Given the description of an element on the screen output the (x, y) to click on. 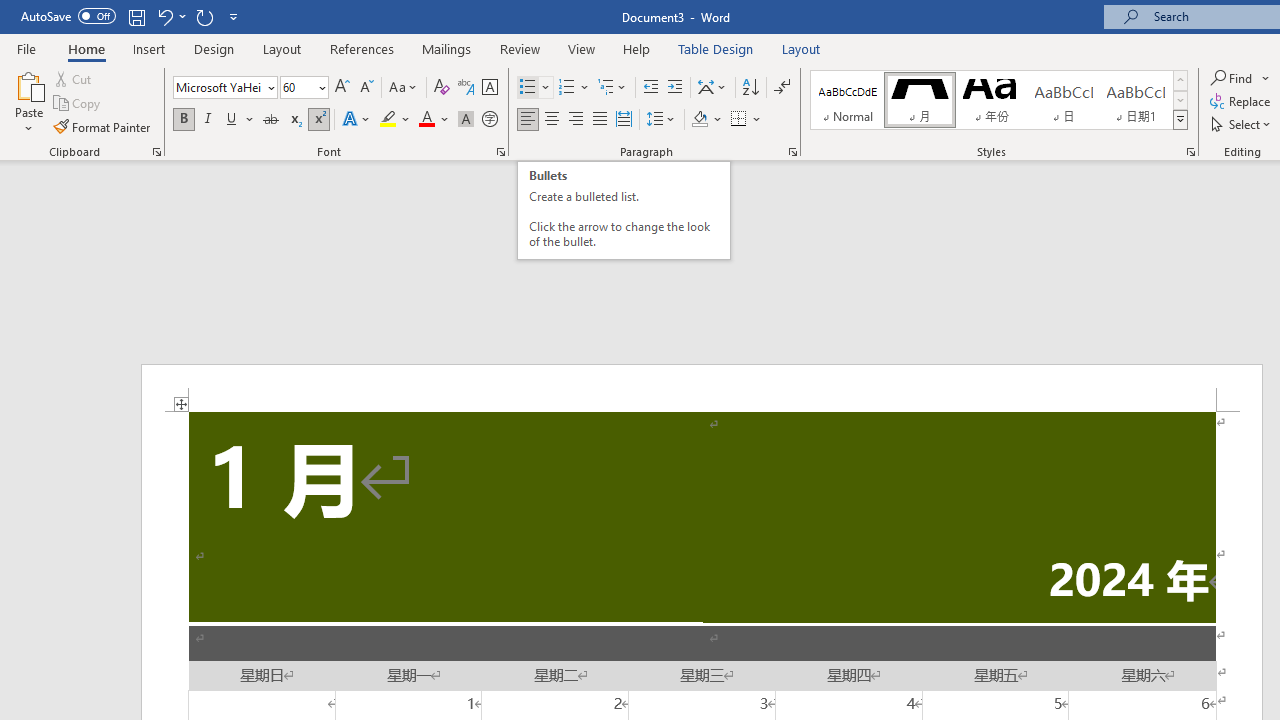
Header -Section 1- (701, 387)
Increase Indent (675, 87)
Paragraph... (792, 151)
Sort... (750, 87)
Styles (1179, 120)
Font Color (434, 119)
Paste (28, 102)
Styles... (1190, 151)
Character Border (489, 87)
Font Color RGB(255, 0, 0) (426, 119)
Distributed (623, 119)
Open (320, 87)
Insert (149, 48)
Numbering (573, 87)
